Given the description of an element on the screen output the (x, y) to click on. 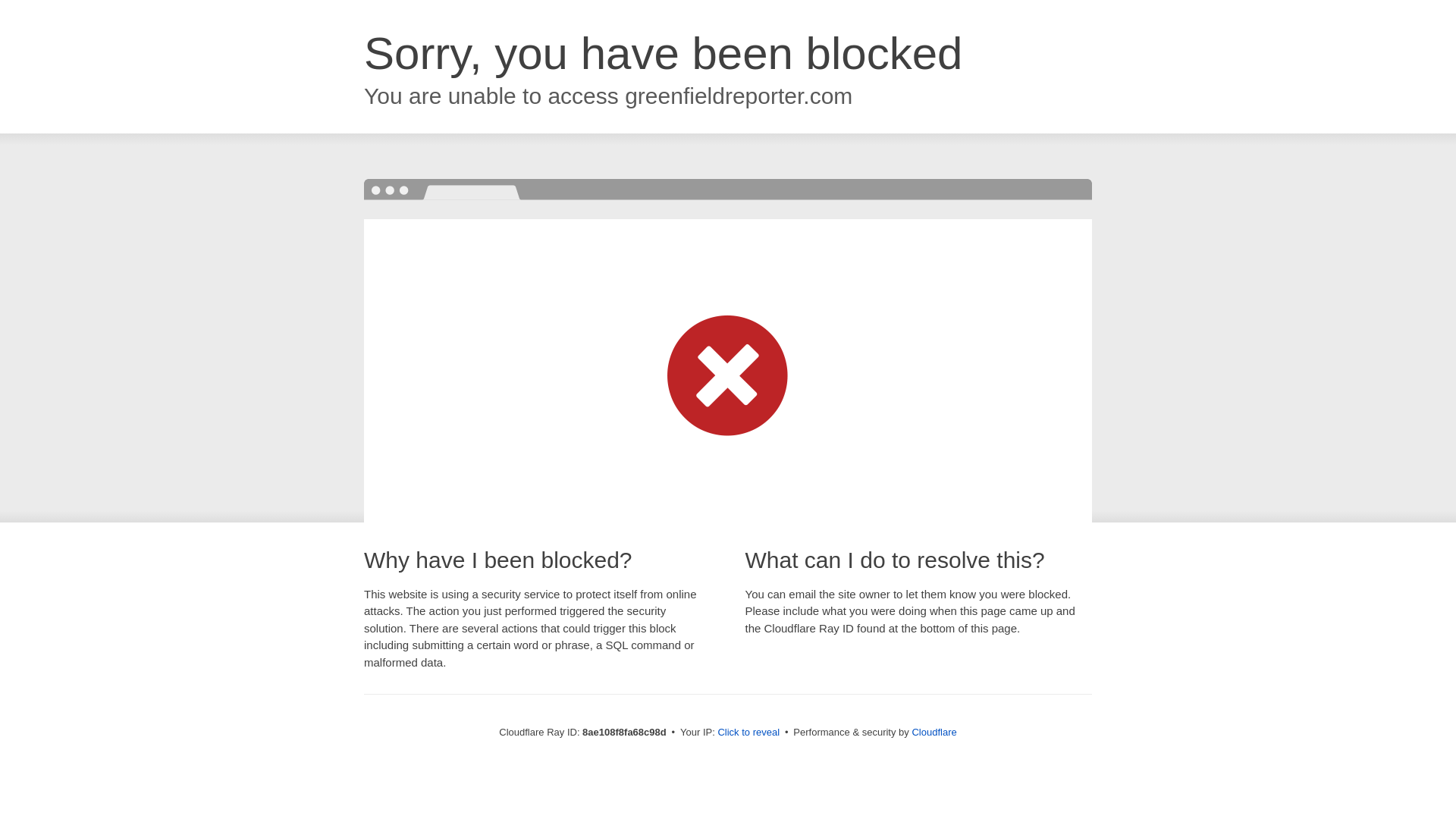
Cloudflare (933, 731)
Click to reveal (747, 732)
